Given the description of an element on the screen output the (x, y) to click on. 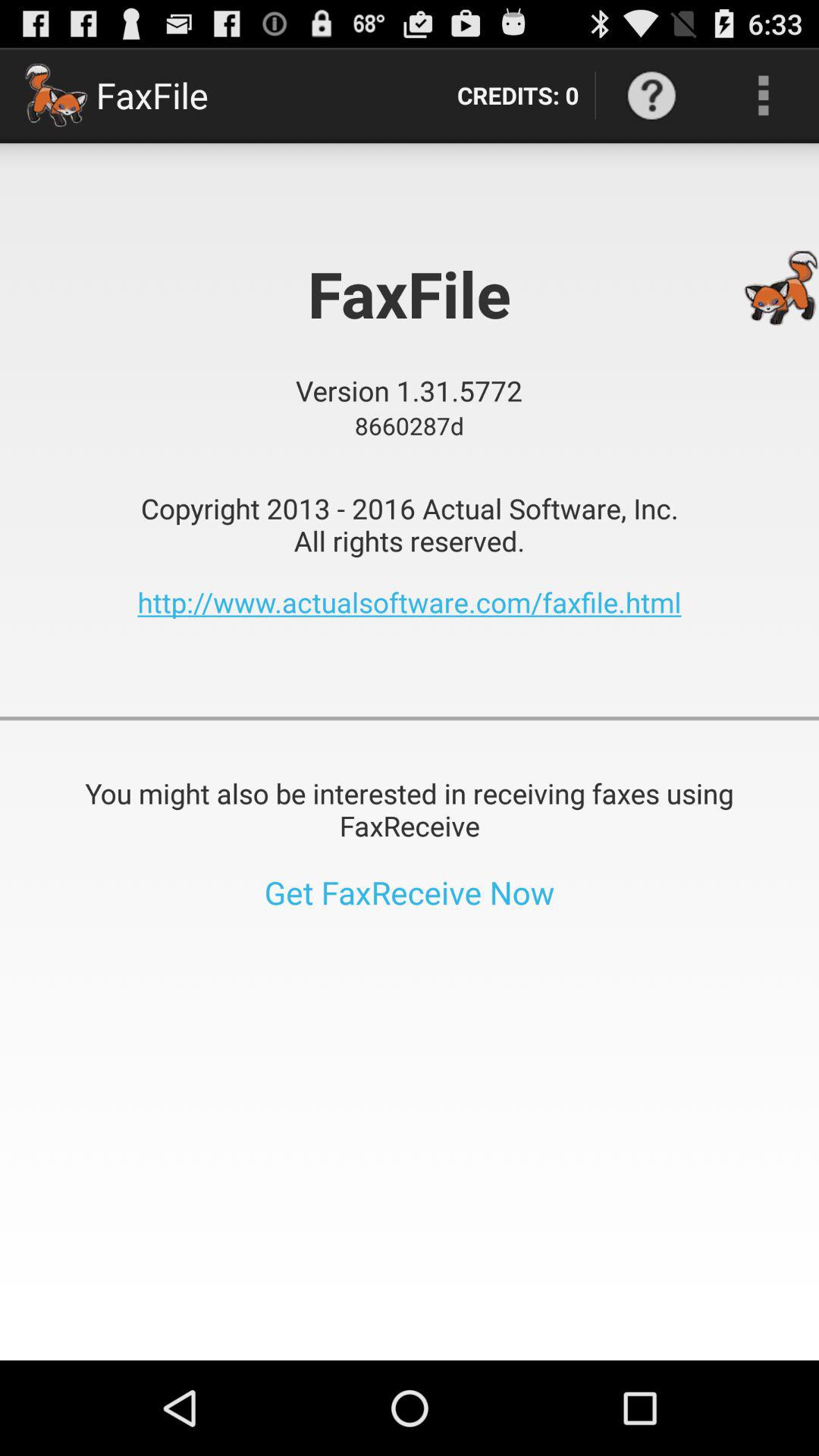
tap the item next to the faxfile app (517, 95)
